Given the description of an element on the screen output the (x, y) to click on. 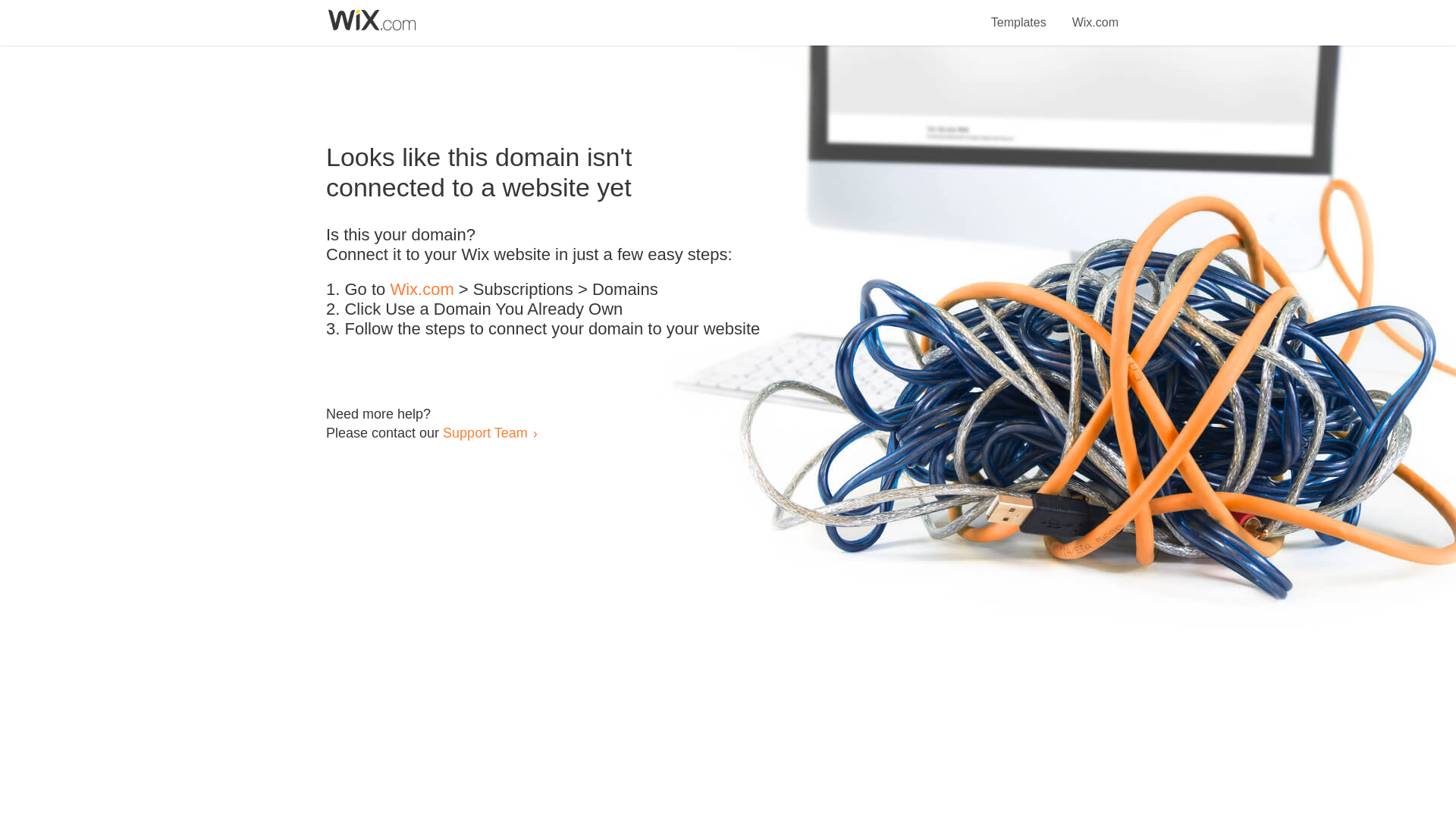
Support Team (484, 432)
Wix.com (421, 289)
Wix.com (1095, 14)
Templates (1018, 14)
